Given the description of an element on the screen output the (x, y) to click on. 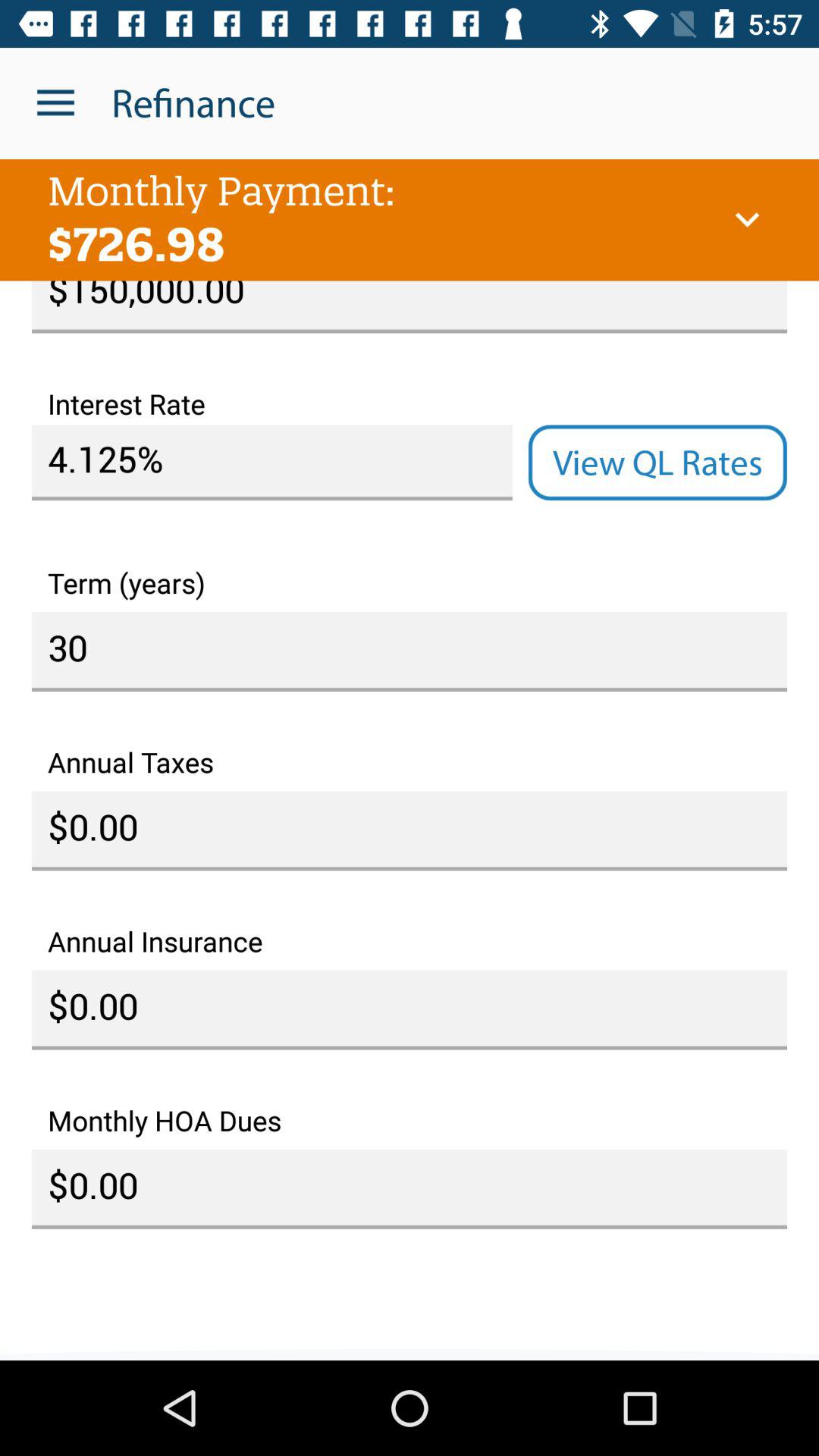
open item above term (years) item (657, 462)
